Given the description of an element on the screen output the (x, y) to click on. 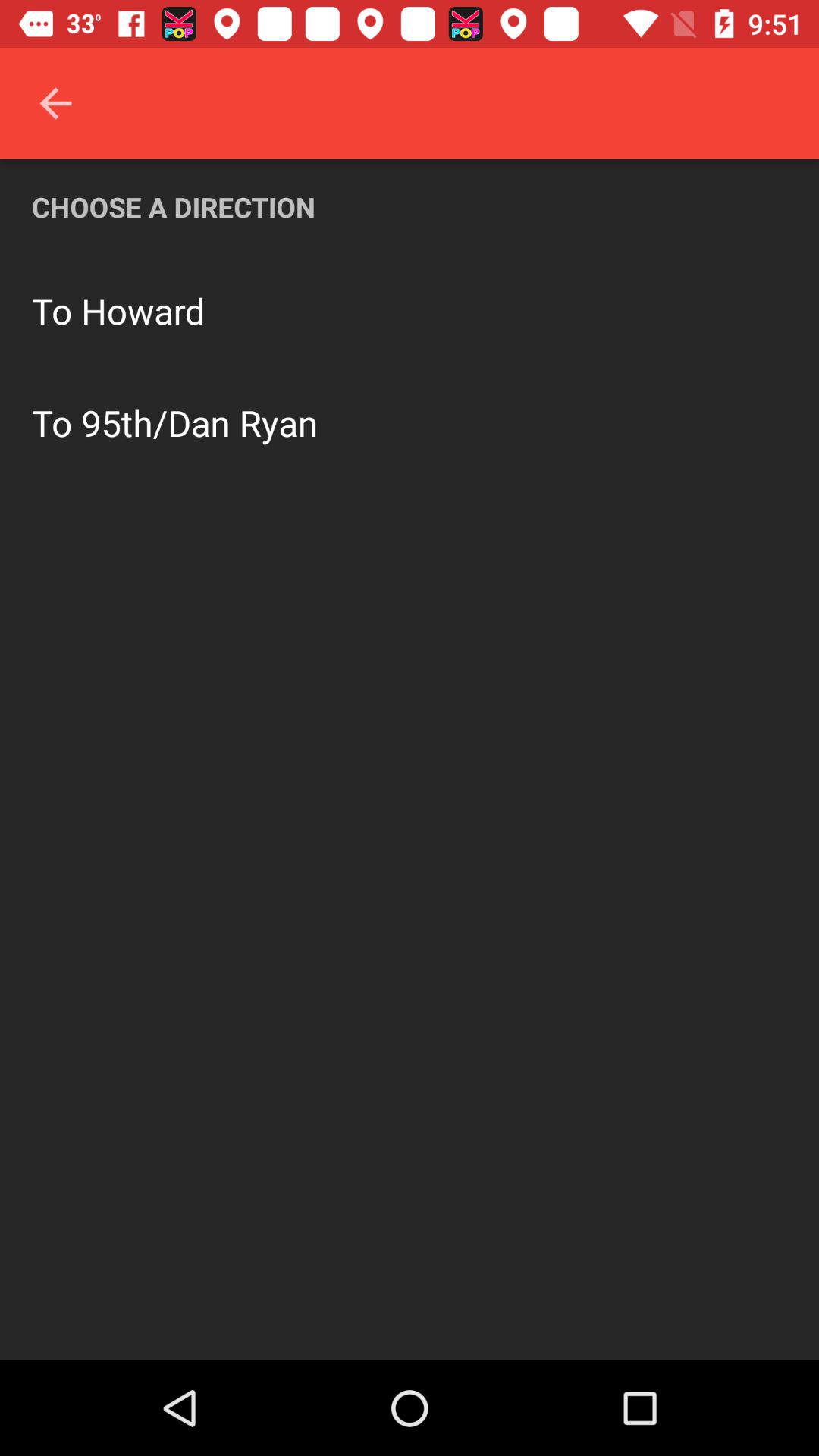
press icon below choose a direction (143, 310)
